Given the description of an element on the screen output the (x, y) to click on. 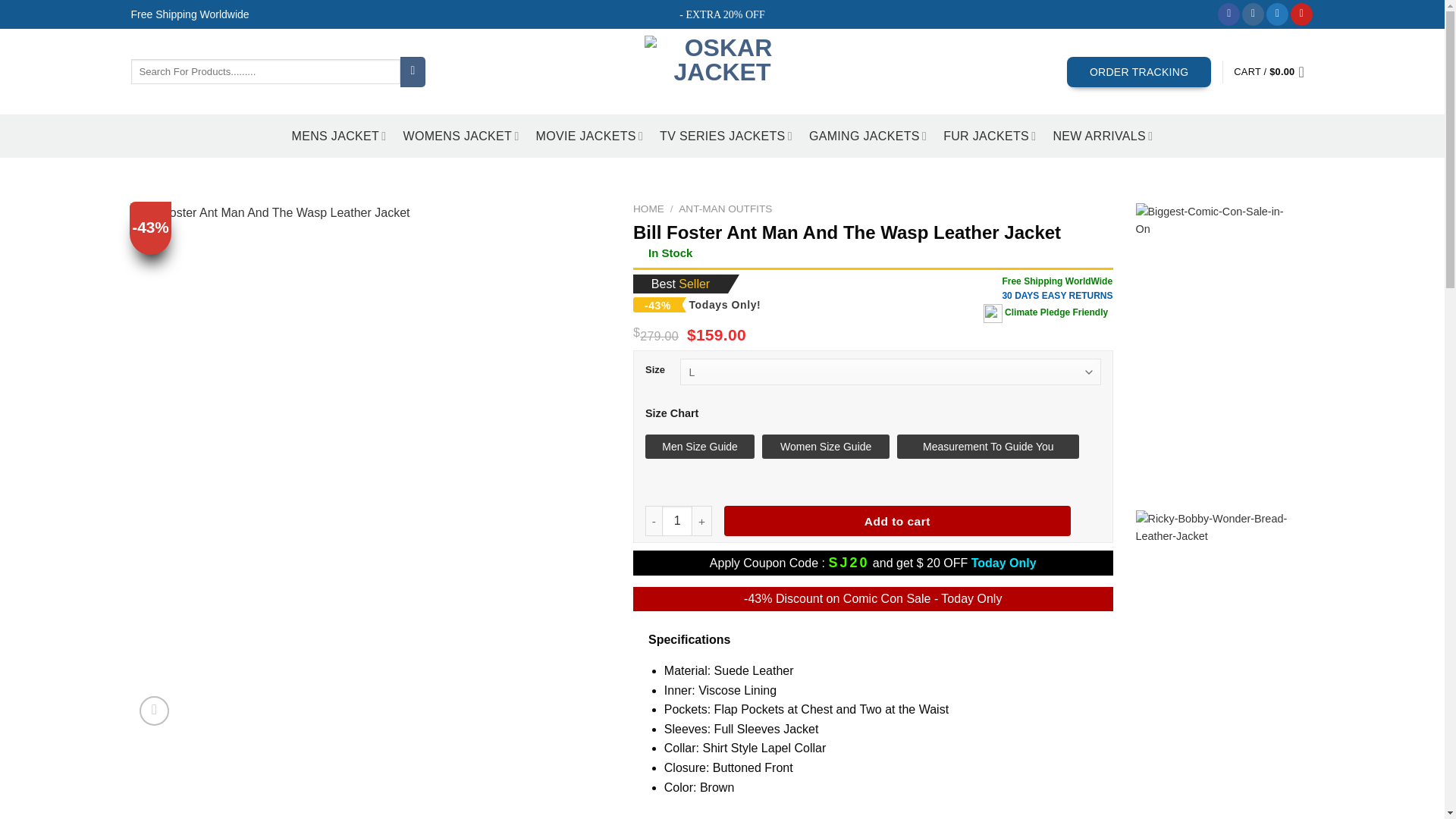
Oskar Jacket - Oskar Jacket your Trusted Brand (722, 71)
1 (677, 521)
ORDER TRACKING (1139, 71)
Zoom (153, 710)
Follow on Instagram (1252, 14)
Cart (1273, 70)
Search (412, 71)
Follow on Facebook (1228, 14)
Follow on Twitter (1277, 14)
Follow on Pinterest (1301, 14)
- (653, 521)
MENS JACKET (339, 135)
